Given the description of an element on the screen output the (x, y) to click on. 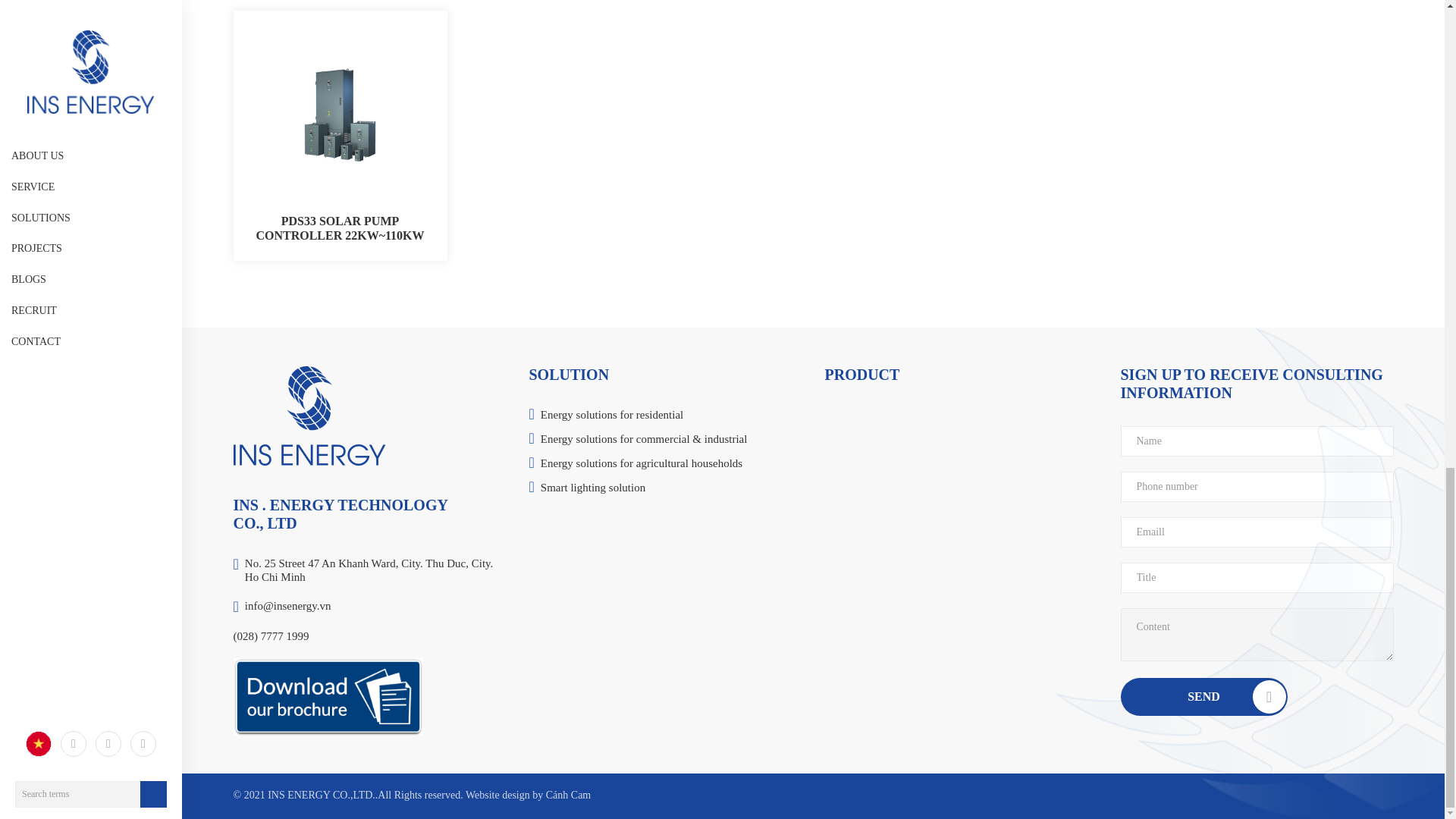
Energy solutions for residential (670, 415)
Energy solutions for agricultural households (670, 463)
Energy solutions for residential (670, 415)
Send (1203, 696)
Smart lighting solution (670, 488)
